Given the description of an element on the screen output the (x, y) to click on. 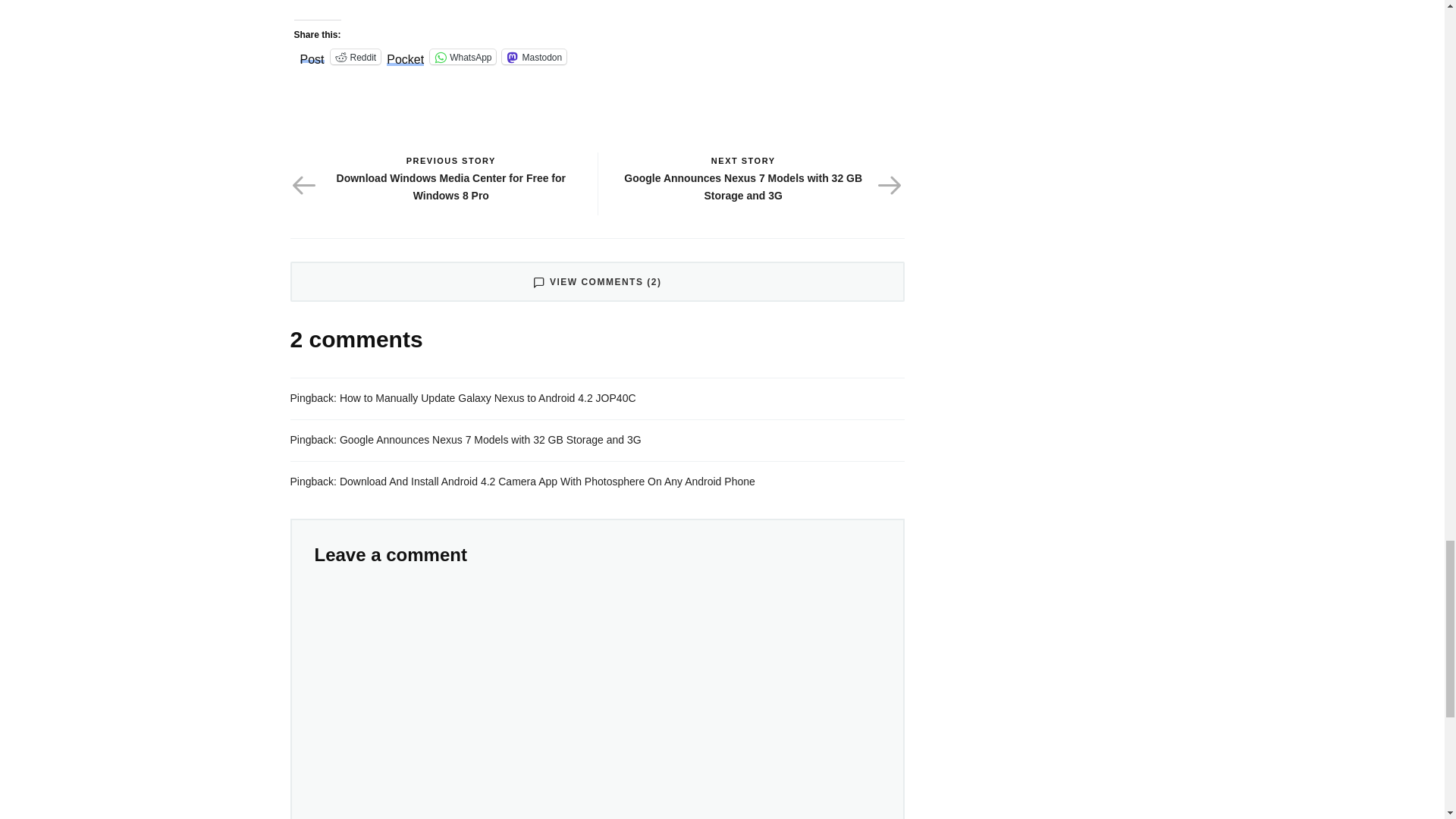
Click to share on Reddit (355, 56)
Click to share on WhatsApp (462, 56)
Click to share on Mastodon (534, 56)
